Given the description of an element on the screen output the (x, y) to click on. 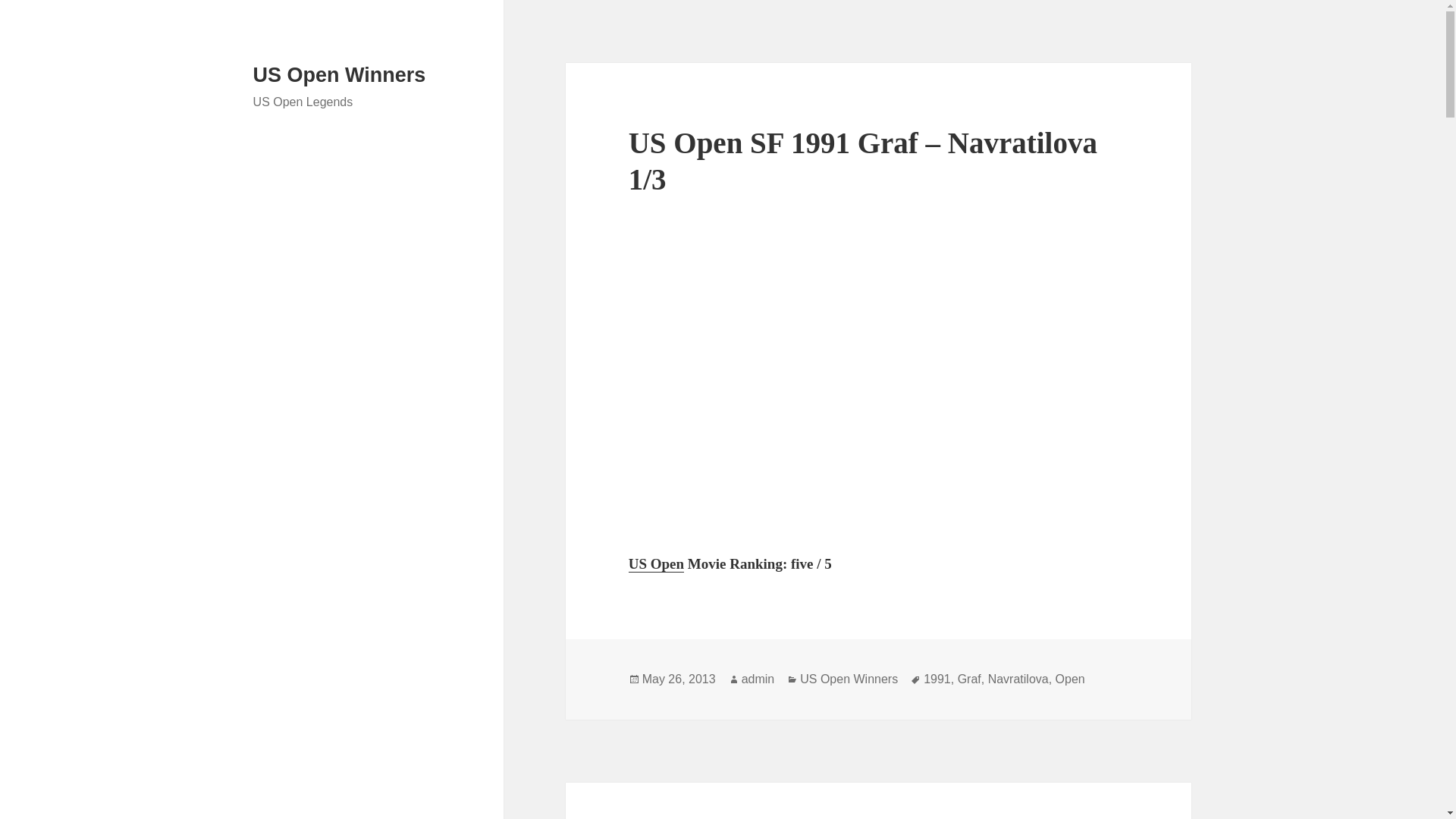
Graf (969, 679)
US Open Winners (339, 74)
Navratilova (1018, 679)
US Open (656, 564)
admin (757, 679)
May 26, 2013 (679, 679)
Open (1069, 679)
1991 (936, 679)
US Open Winners (848, 679)
